Given the description of an element on the screen output the (x, y) to click on. 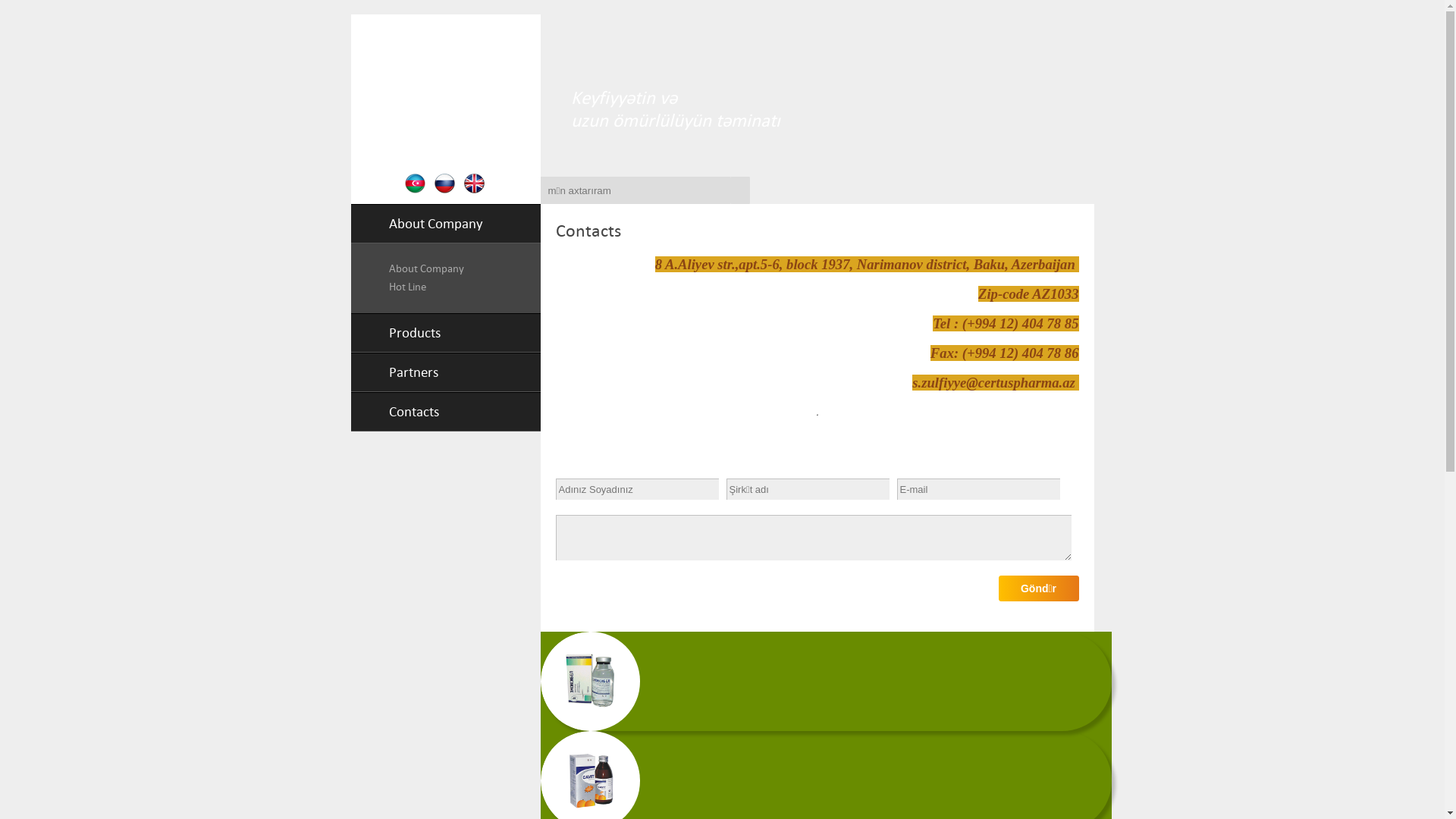
Contacts Element type: text (394, 411)
About Company Element type: text (416, 223)
About Company Element type: text (425, 268)
Partners Element type: text (393, 371)
Hot Line Element type: text (406, 286)
Products Element type: text (394, 332)
Certus logo Element type: text (445, 93)
